Given the description of an element on the screen output the (x, y) to click on. 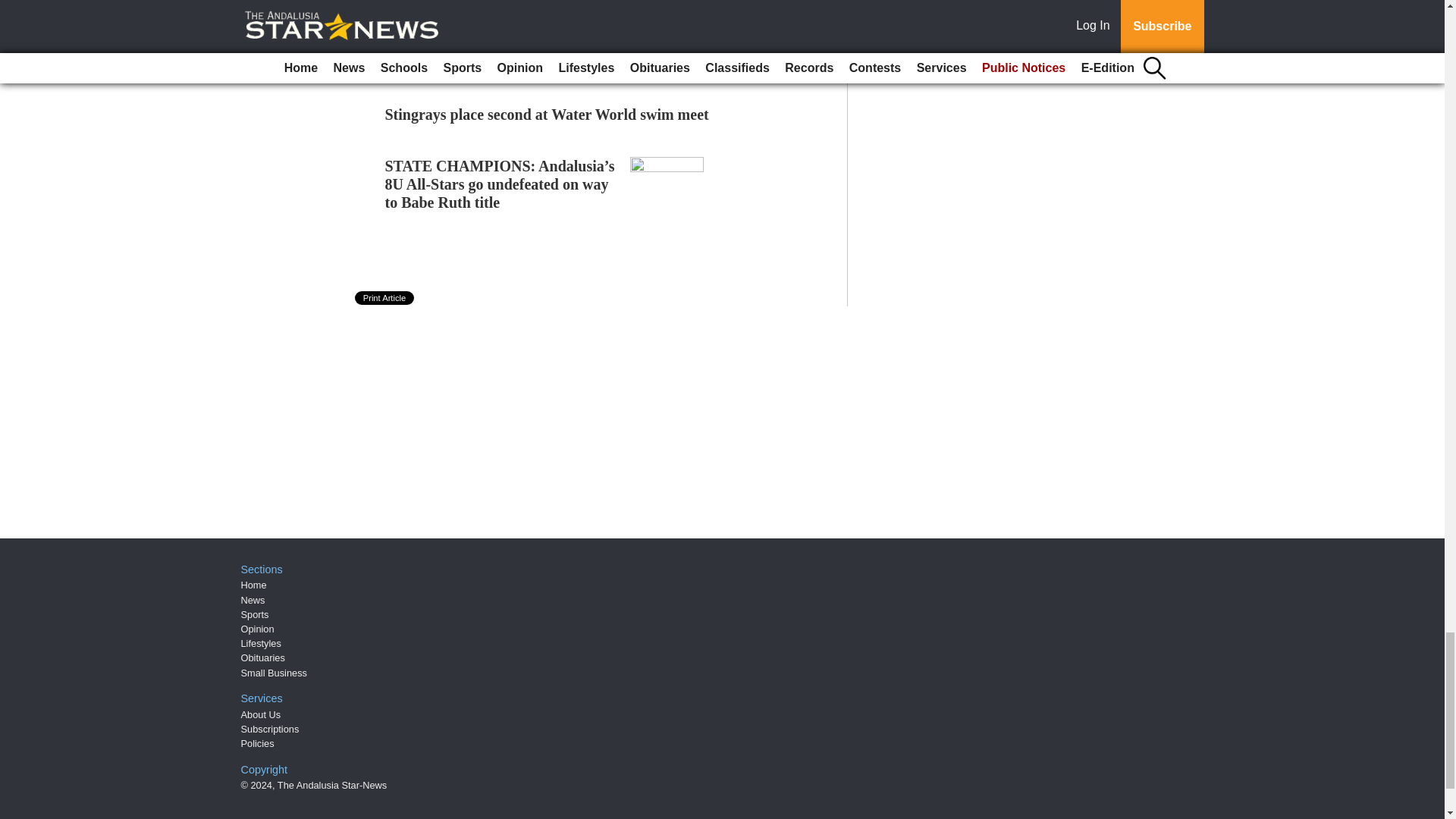
About Us (261, 714)
Opinion (258, 628)
Lifestyles (261, 643)
Home (253, 584)
Stingrays place second at Water World swim meet (547, 114)
Print Article (384, 297)
Stingrays place second at Water World swim meet (547, 114)
News (252, 600)
Obituaries (263, 657)
Sports (255, 614)
Small Business (274, 672)
